Given the description of an element on the screen output the (x, y) to click on. 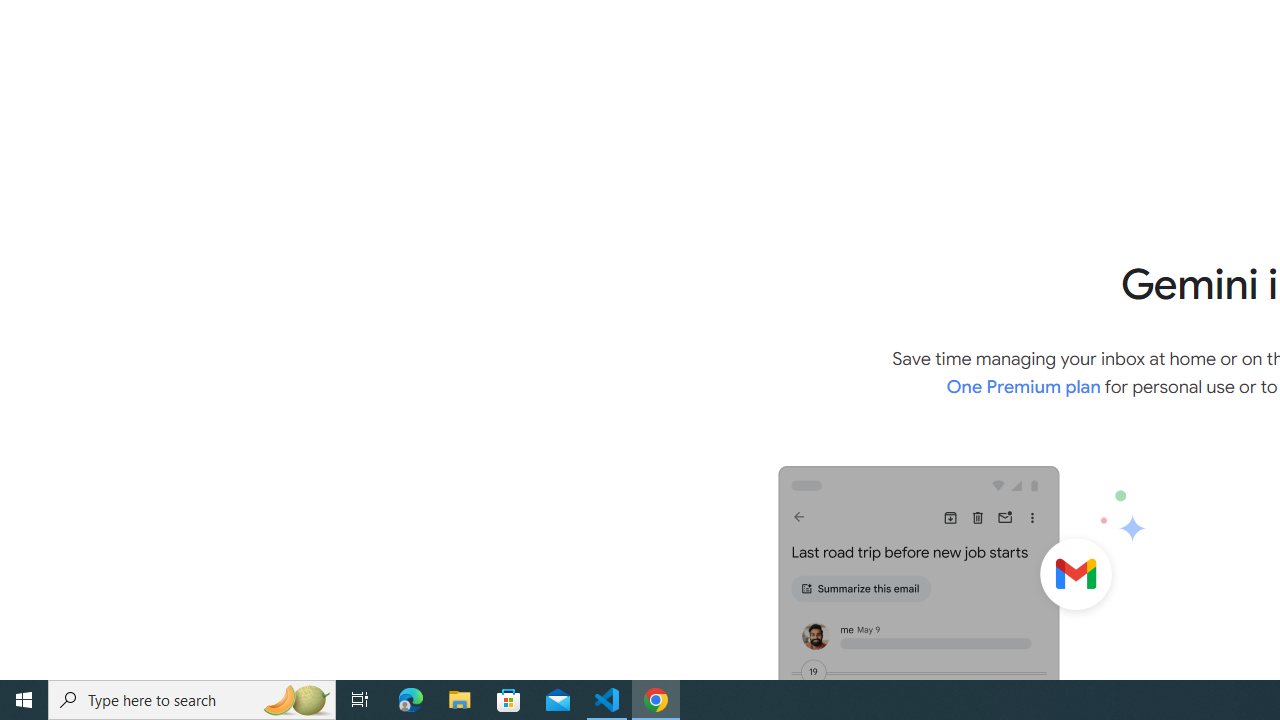
Visual Studio Code - 1 running window (607, 699)
Start (24, 699)
Type here to search (191, 699)
File Explorer (460, 699)
Microsoft Edge (411, 699)
Microsoft Store (509, 699)
Task View (359, 699)
Search highlights icon opens search home window (295, 699)
Google Chrome - 1 running window (656, 699)
